Given the description of an element on the screen output the (x, y) to click on. 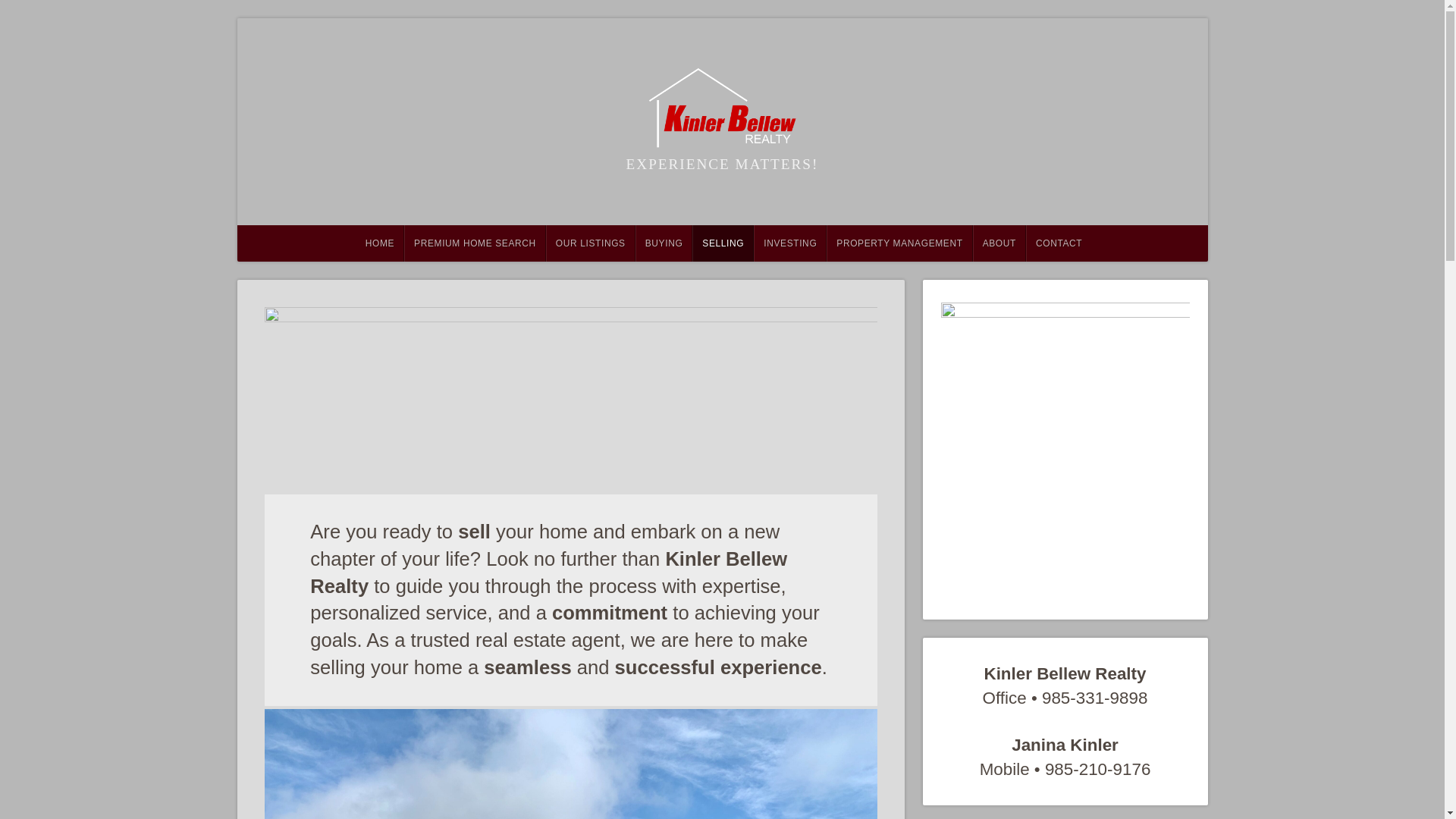
CONTACT (1058, 243)
PROPERTY MANAGEMENT (899, 243)
INVESTING (790, 243)
ABOUT (999, 243)
OUR LISTINGS (590, 243)
SELLING (723, 243)
PREMIUM HOME SEARCH (475, 243)
HOME (378, 243)
BUYING (663, 243)
